Given the description of an element on the screen output the (x, y) to click on. 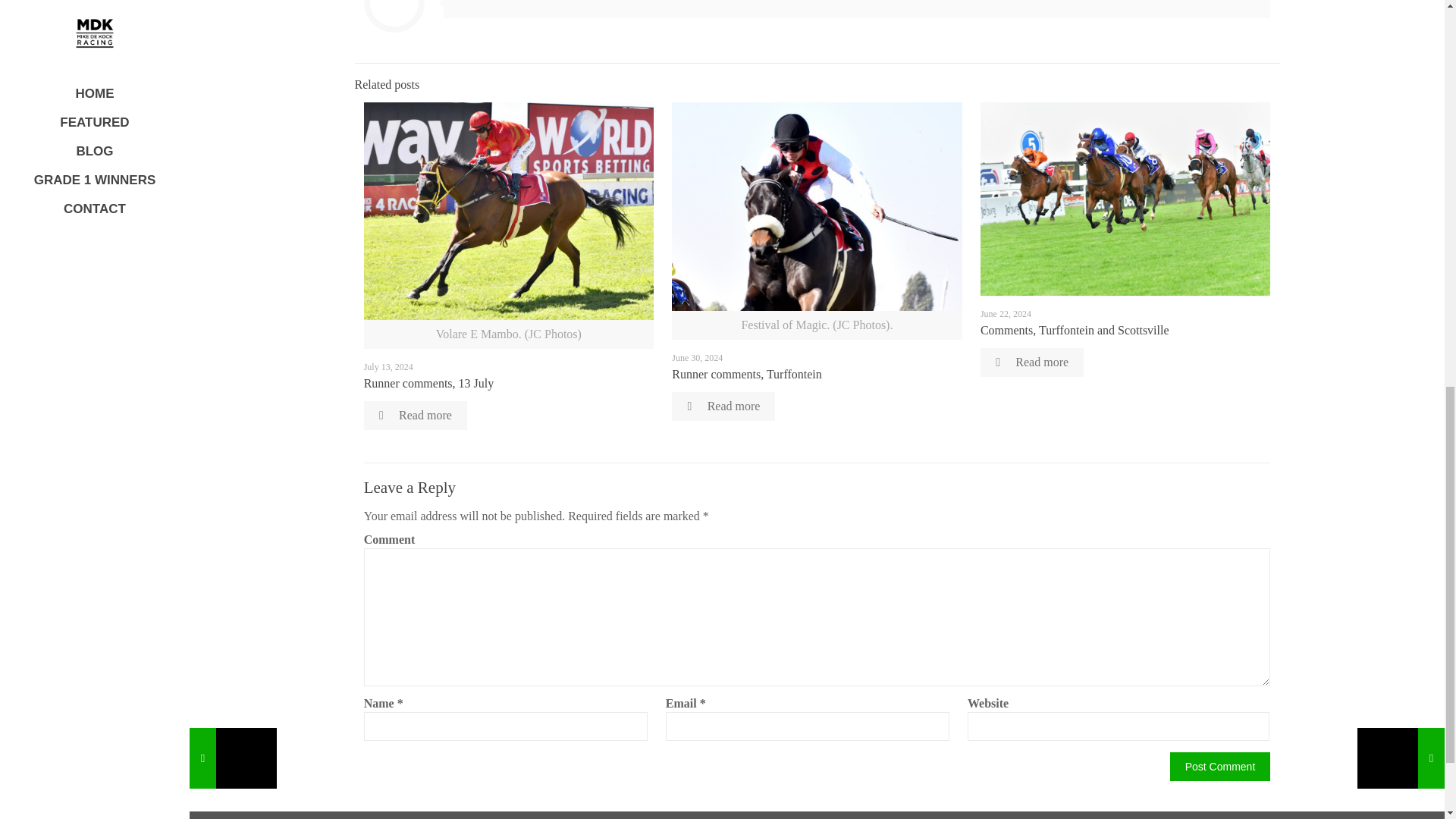
Runner comments, 13 July (429, 382)
Read more (415, 415)
Post Comment (1220, 766)
Read more (1031, 362)
Runner comments, Turffontein (746, 373)
Read more (722, 406)
Comments, Turffontein and Scottsville (1074, 329)
